Given the description of an element on the screen output the (x, y) to click on. 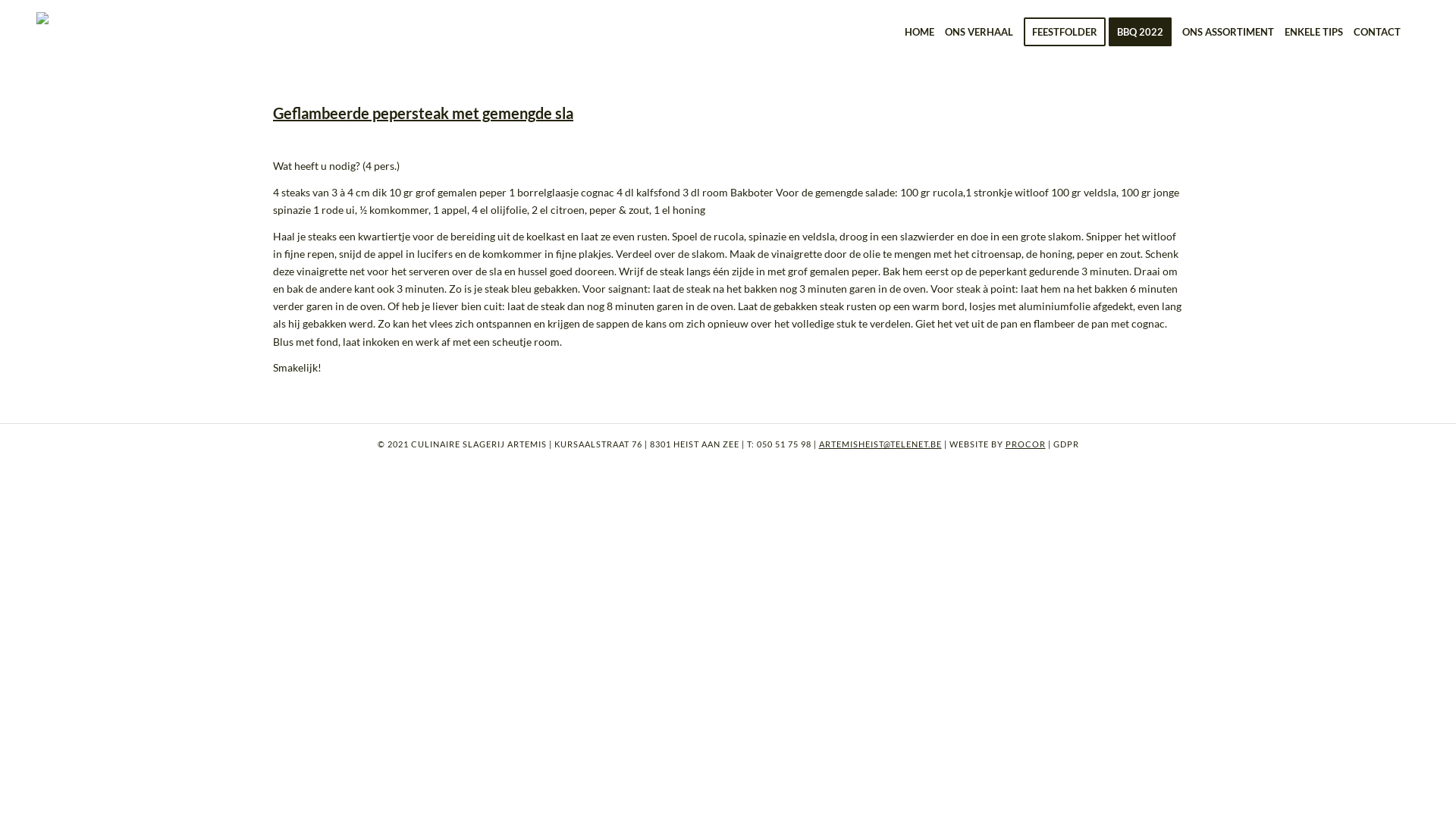
ARTEMISHEIST@TELENET.BE Element type: text (880, 443)
PROCOR Element type: text (1025, 443)
ENKELE TIPS Element type: text (1313, 31)
ONS ASSORTIMENT Element type: text (1227, 31)
FEESTFOLDER Element type: text (1064, 31)
ONS VERHAAL Element type: text (978, 31)
BBQ 2022 Element type: text (1139, 31)
GDPR Element type: text (1065, 443)
HOME Element type: text (919, 31)
CONTACT Element type: text (1376, 31)
